Given the description of an element on the screen output the (x, y) to click on. 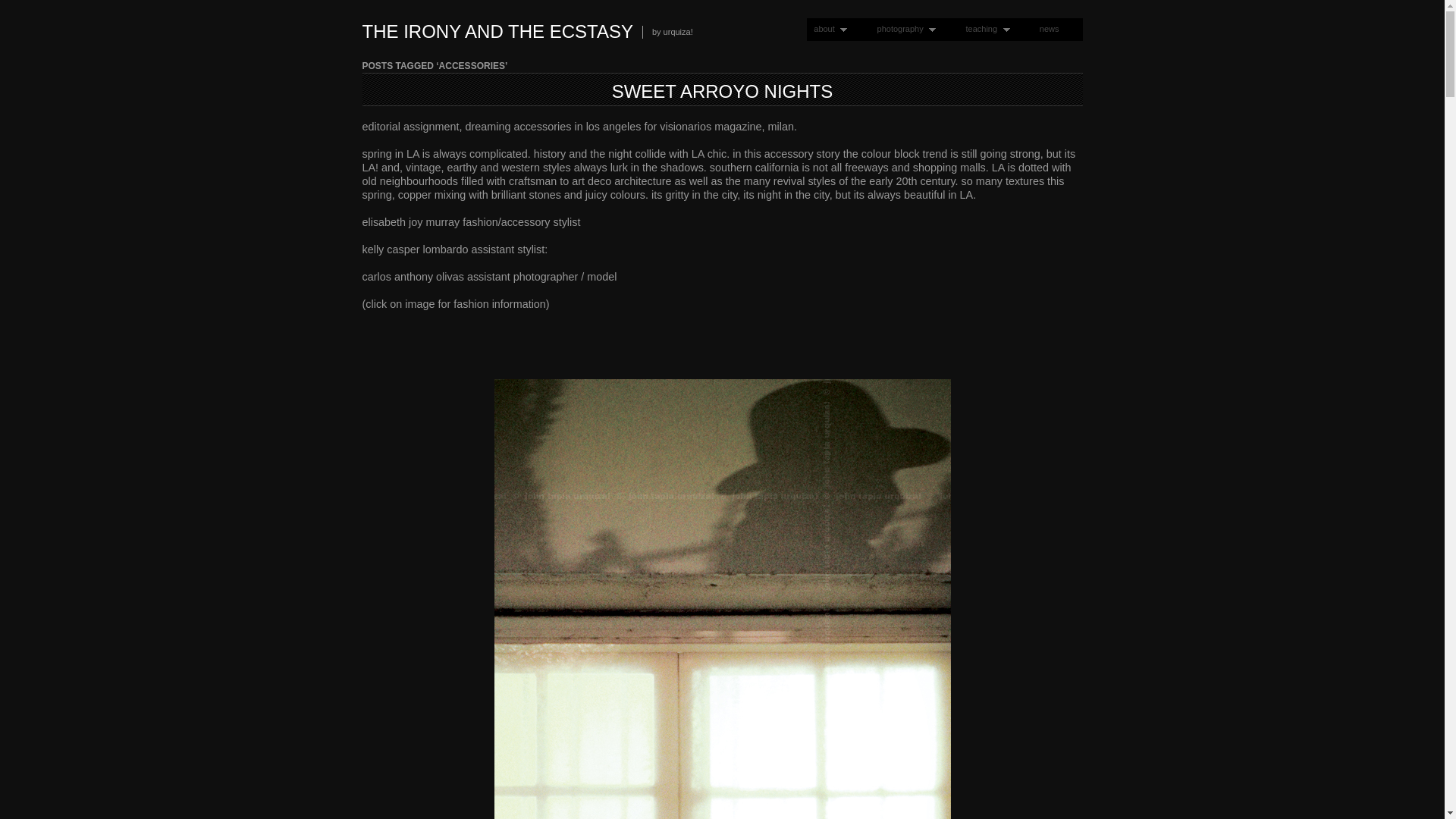
Permanent Link to sweet arroyo nights (721, 91)
news (1048, 29)
SWEET ARROYO NIGHTS (721, 91)
the irony and the ecstasy (497, 31)
THE IRONY AND THE ECSTASY (497, 31)
